Given the description of an element on the screen output the (x, y) to click on. 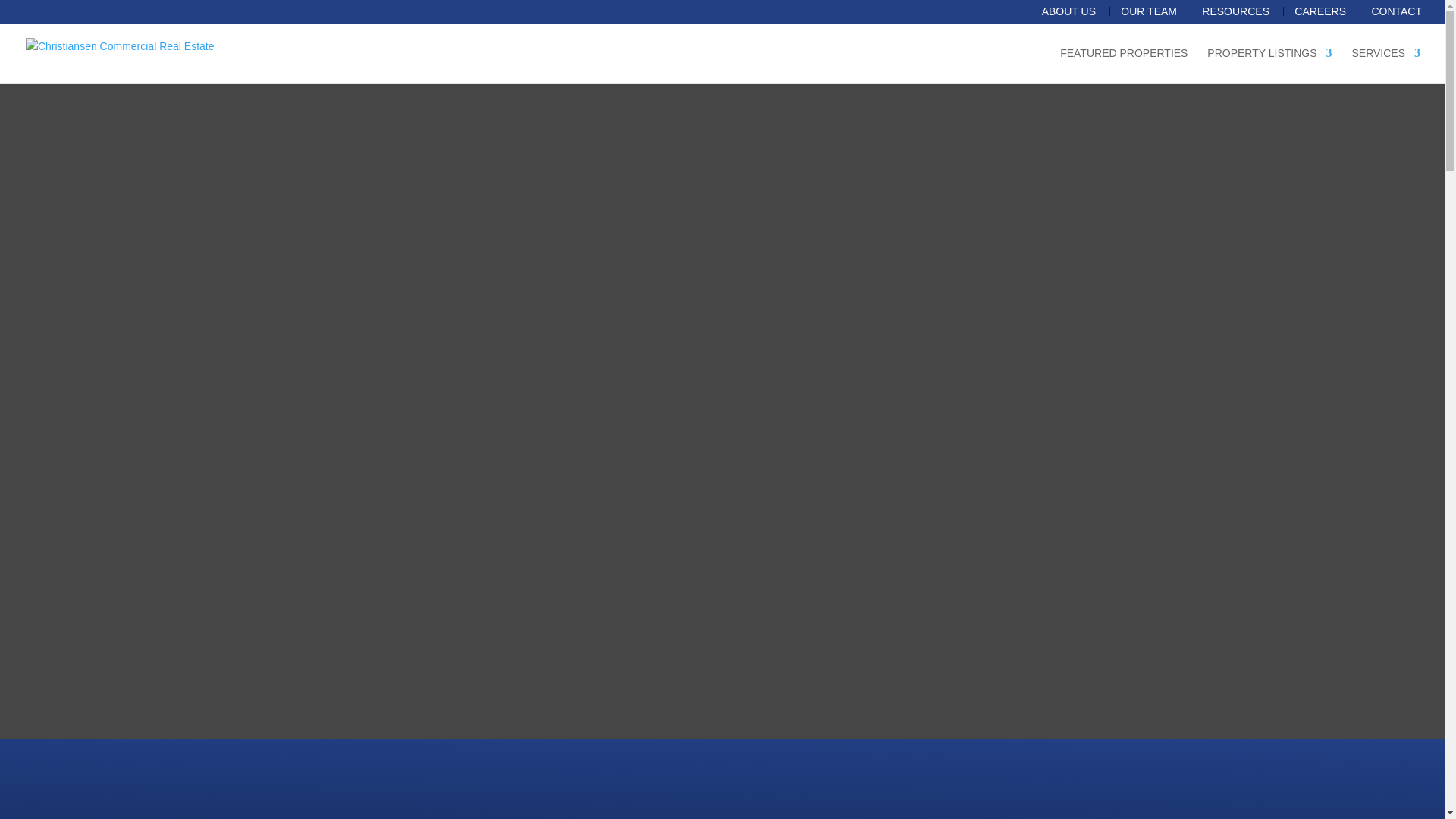
ABOUT US (1063, 10)
PROPERTY LISTINGS (1269, 65)
CAREERS (1313, 10)
OUR TEAM (1142, 10)
CONTACT (1390, 10)
SERVICES (1386, 65)
RESOURCES (1230, 10)
FEATURED PROPERTIES (1123, 65)
